Given the description of an element on the screen output the (x, y) to click on. 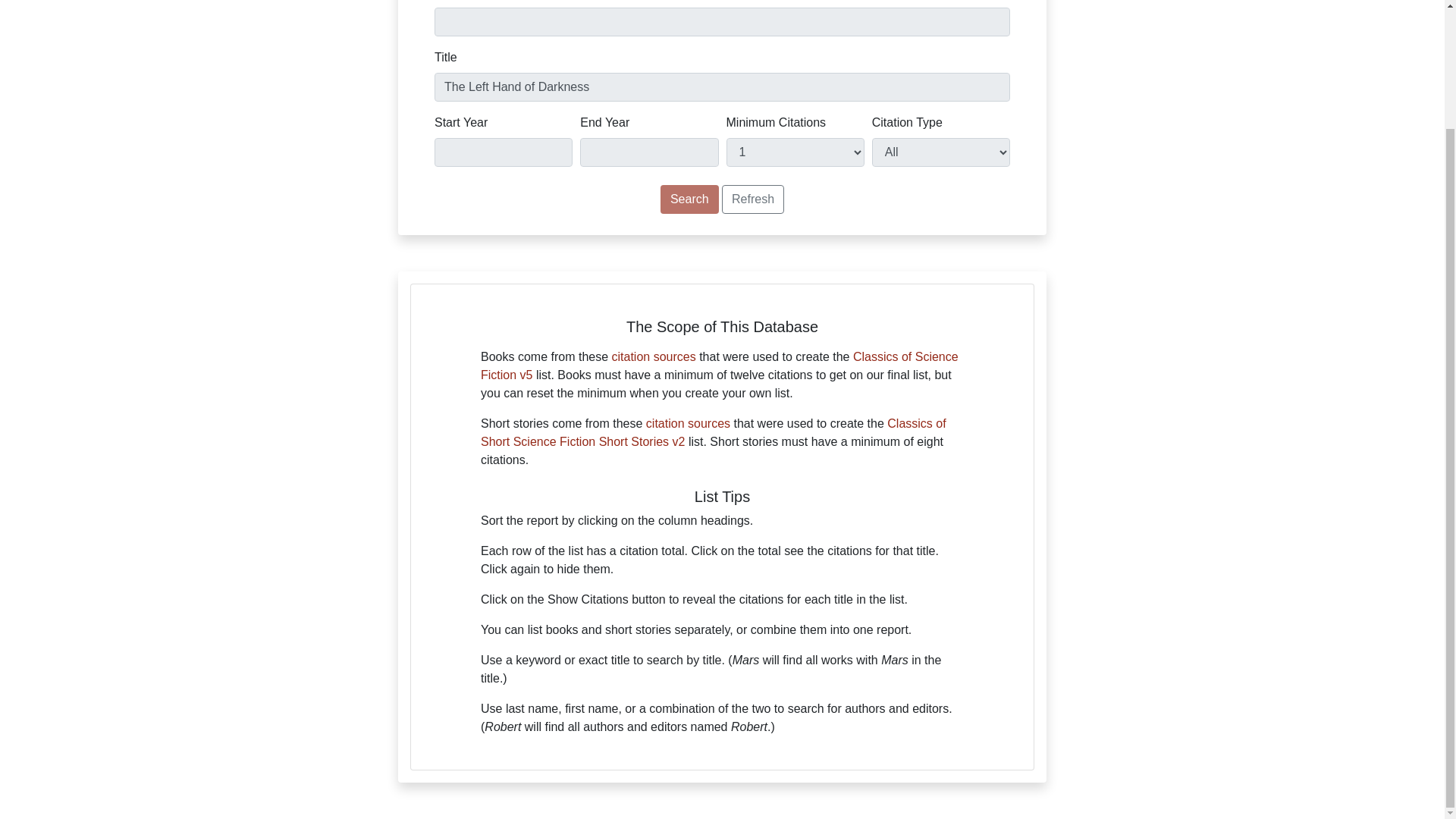
Refresh (753, 199)
citation sources (688, 422)
Classics of Short Science Fiction Short Stories v2 (713, 431)
Search (690, 199)
Search (690, 199)
The Left Hand of Darkness (721, 86)
Classics of Science Fiction v5 (719, 365)
citation sources (653, 356)
